Given the description of an element on the screen output the (x, y) to click on. 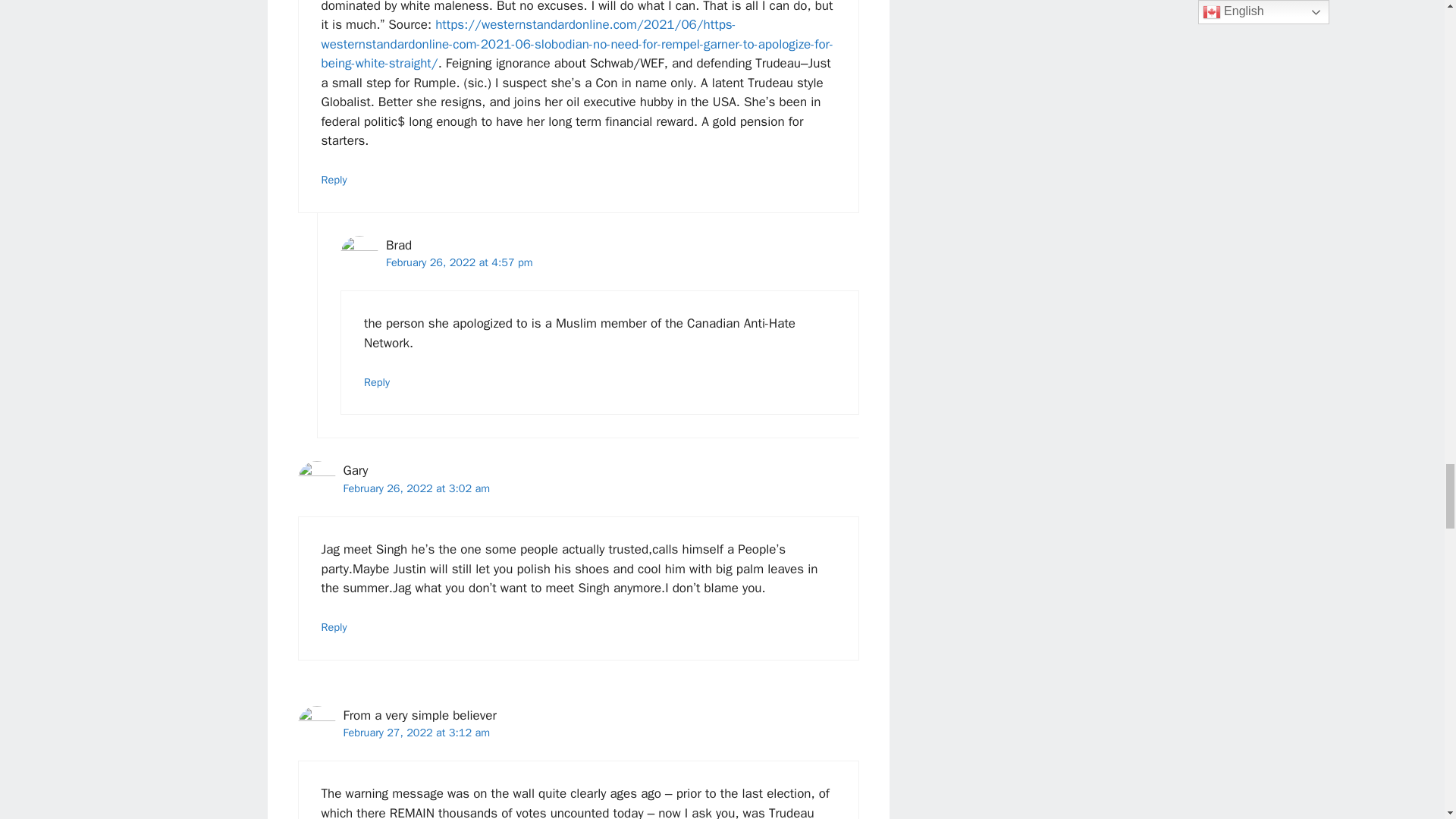
February 26, 2022 at 4:57 pm (458, 262)
Reply (334, 626)
Reply (334, 179)
Reply (377, 382)
February 27, 2022 at 3:12 am (415, 732)
February 26, 2022 at 3:02 am (415, 488)
